Given the description of an element on the screen output the (x, y) to click on. 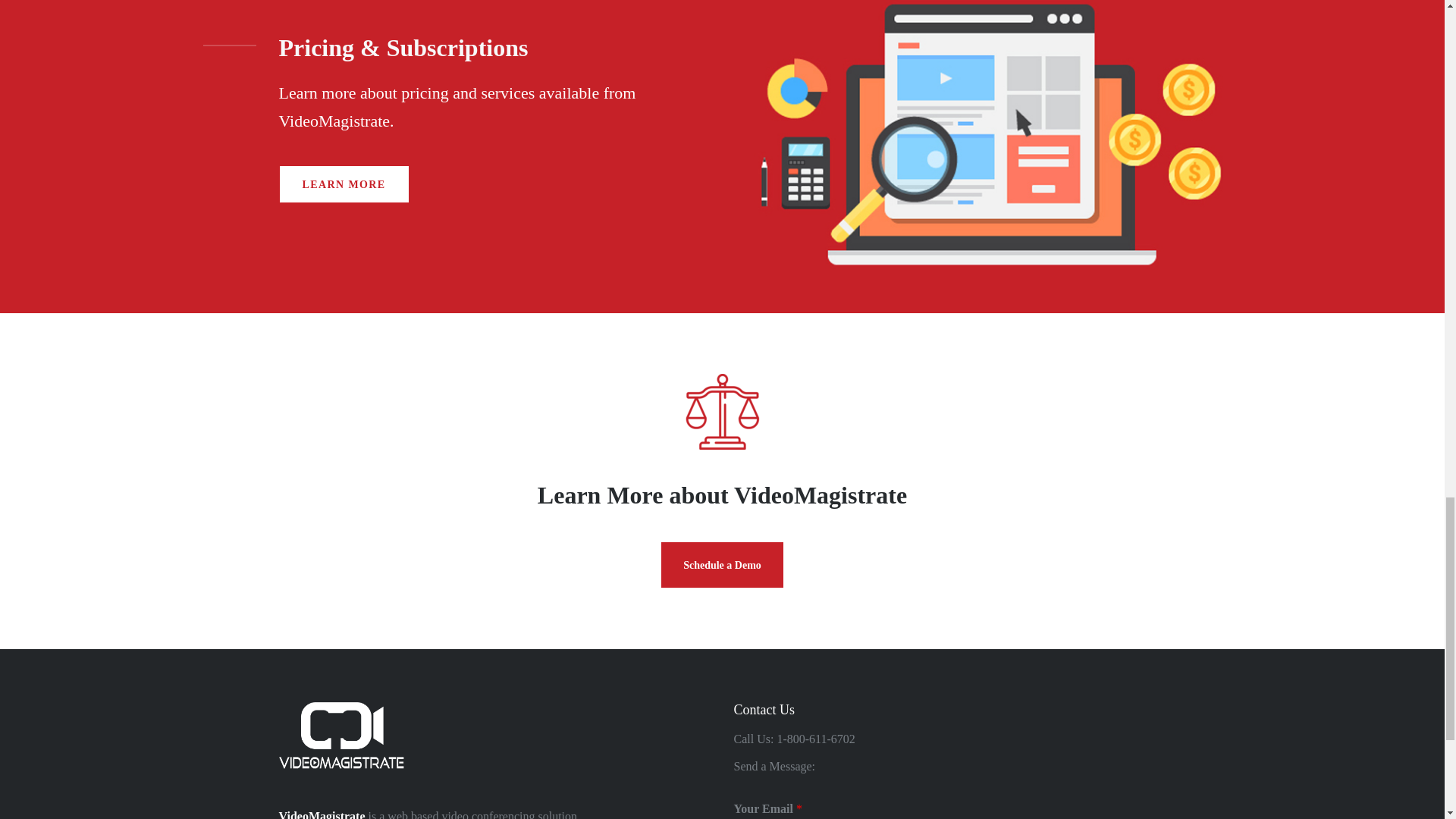
img10-300x300-new (722, 411)
